Given the description of an element on the screen output the (x, y) to click on. 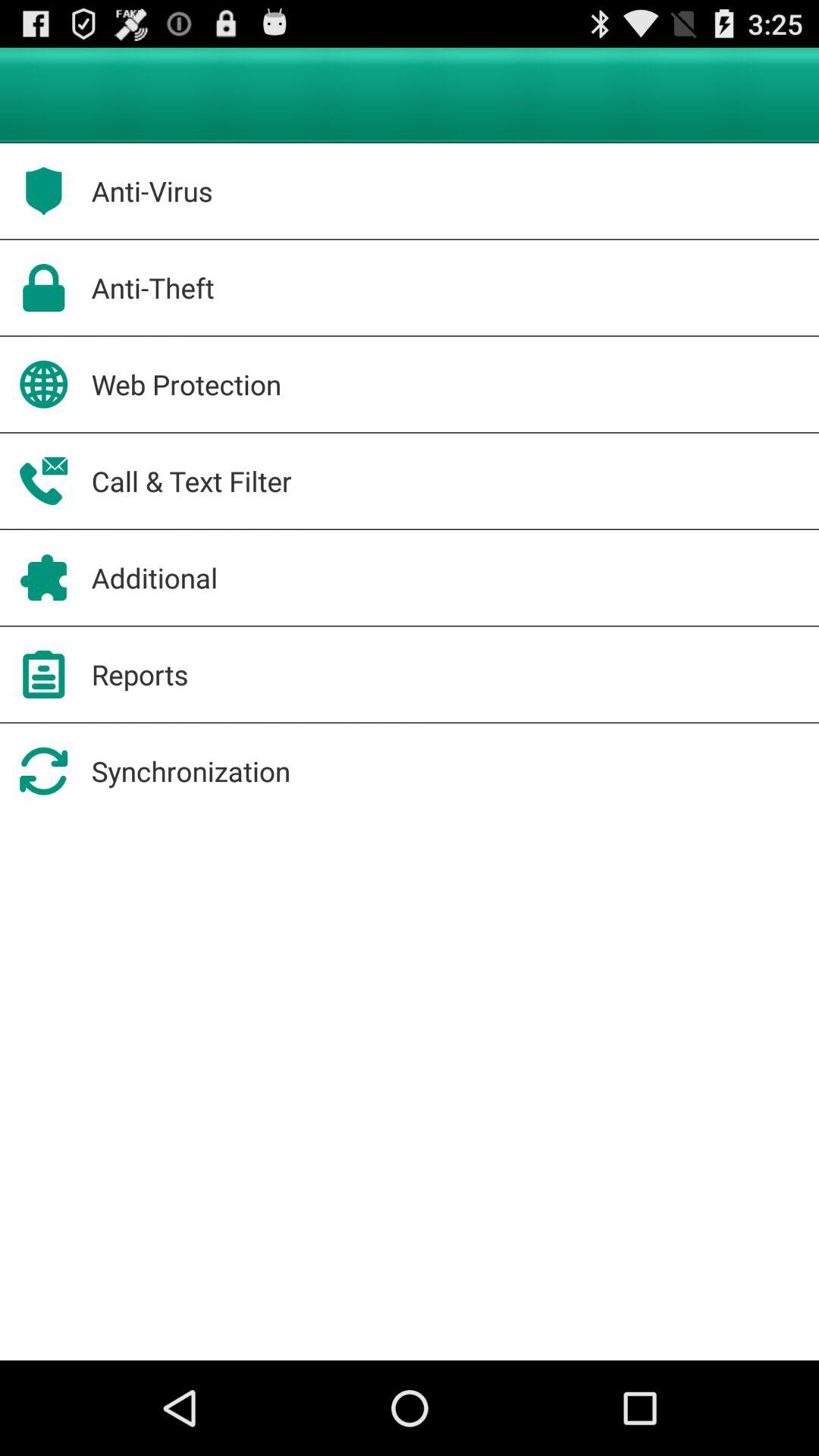
tap additional app (154, 577)
